Given the description of an element on the screen output the (x, y) to click on. 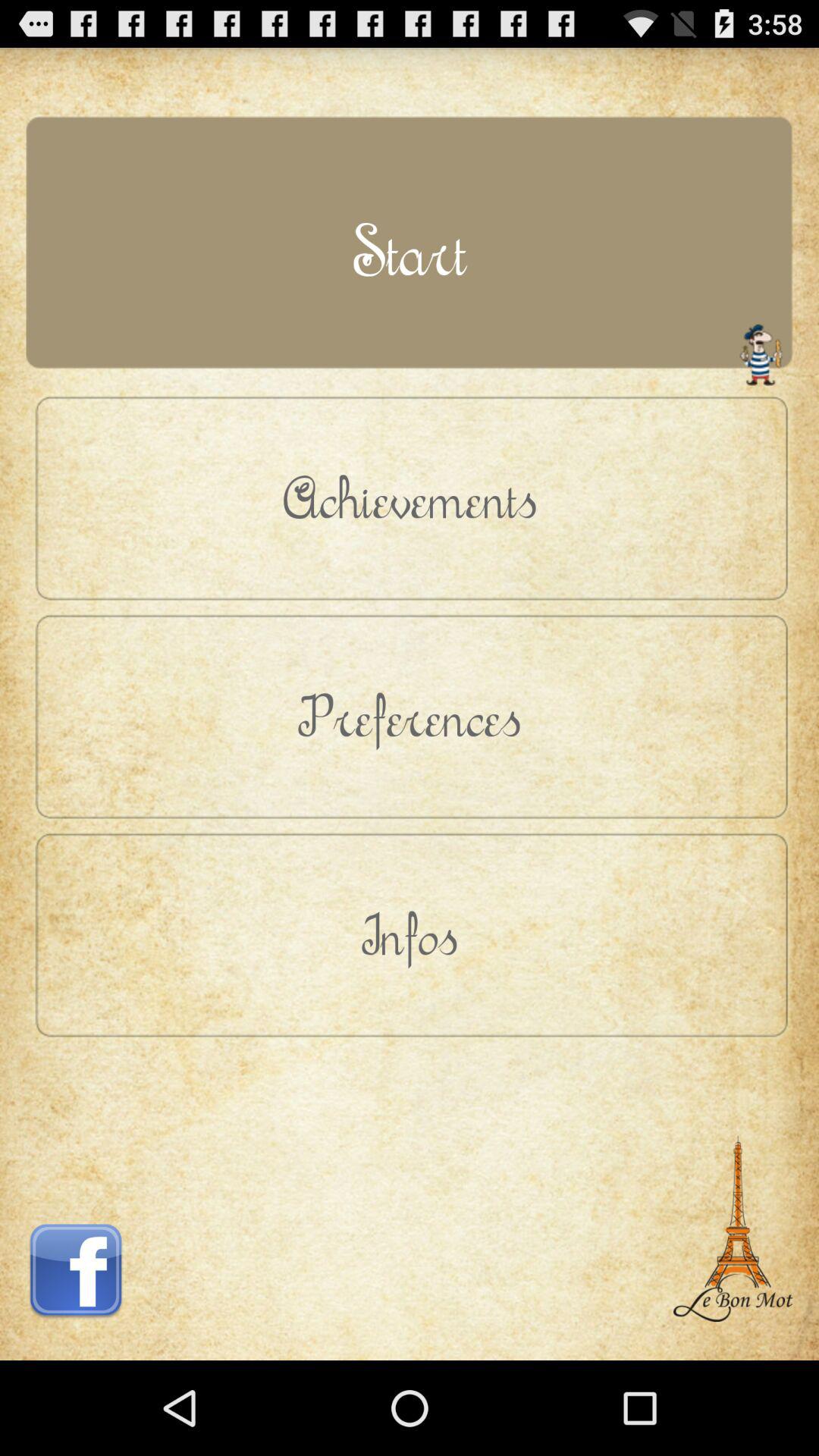
turn on the achievements button (409, 497)
